Given the description of an element on the screen output the (x, y) to click on. 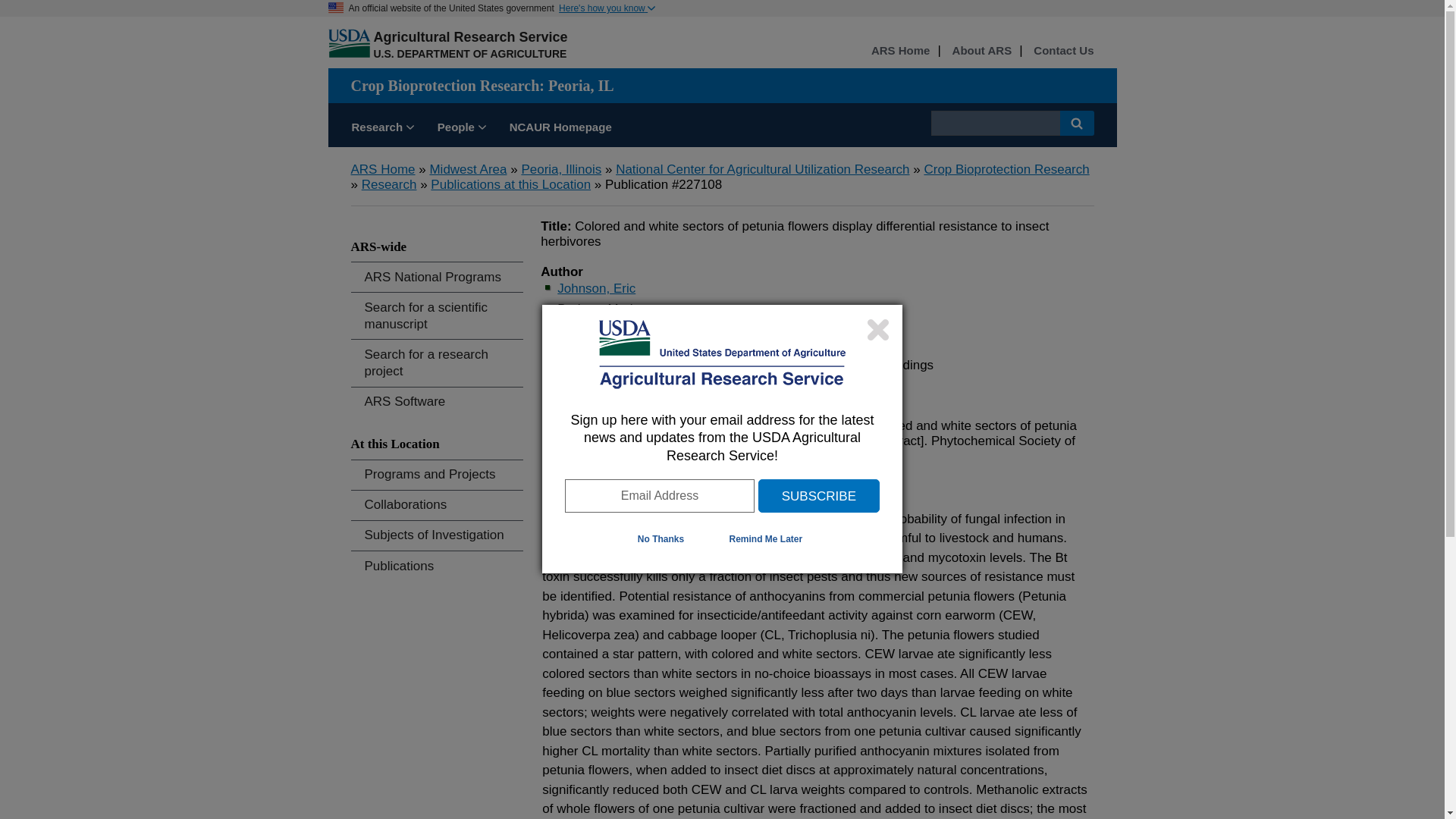
About ARS (981, 50)
Programs and Projects (436, 474)
U.S. DEPARTMENT OF AGRICULTURE Home (469, 53)
Contact Us (1063, 50)
Here's how you know (607, 8)
Publications at this Location (510, 184)
ARS Software (436, 401)
ARS National Programs (436, 276)
People (461, 128)
Close subscription dialog (877, 328)
U.S. DEPARTMENT OF AGRICULTURE (469, 53)
ARS Home (900, 50)
Agricultural Research Service Home (469, 37)
Research (382, 128)
Collaborations (436, 505)
